Given the description of an element on the screen output the (x, y) to click on. 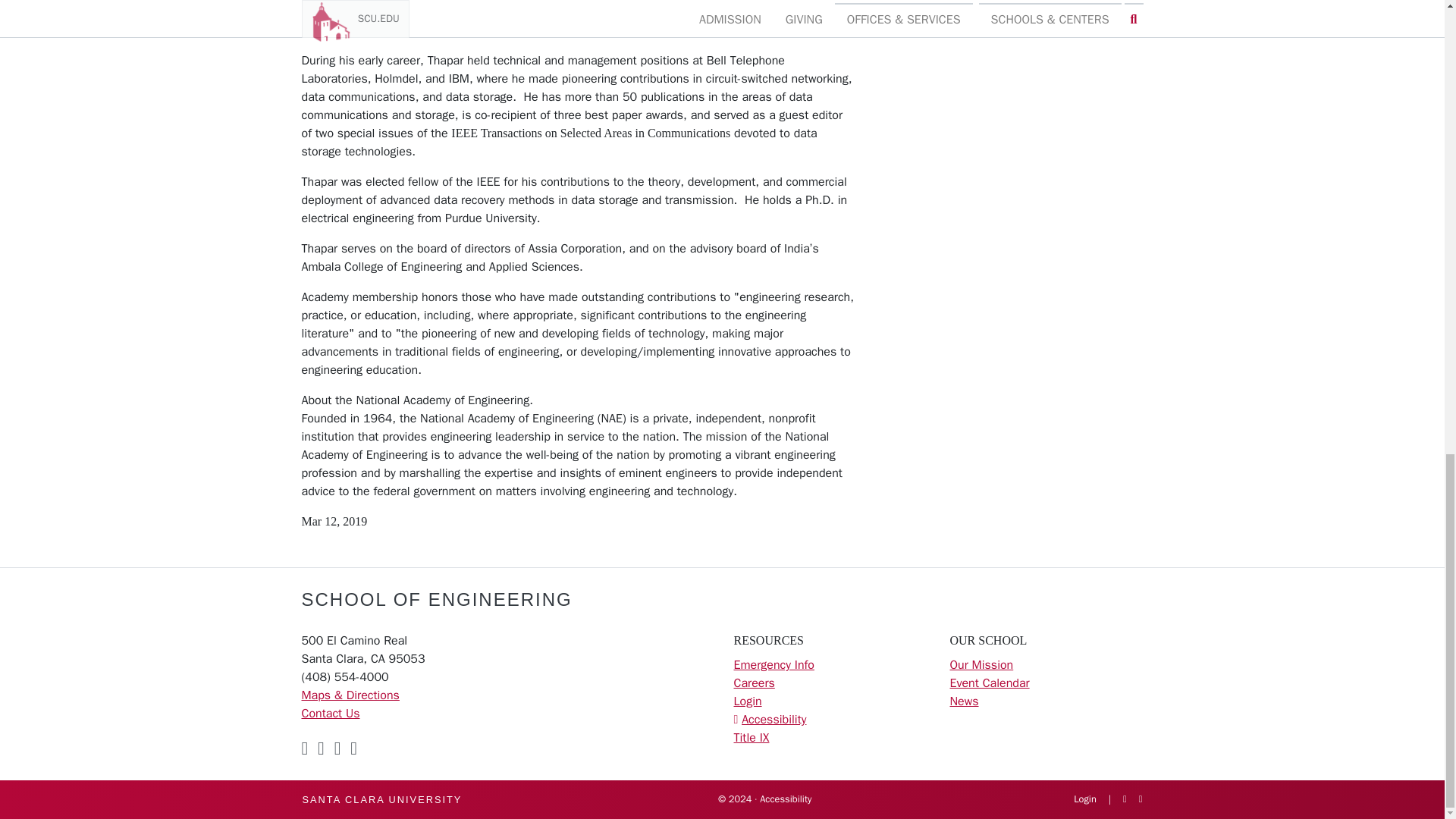
Title IX (751, 737)
